Given the description of an element on the screen output the (x, y) to click on. 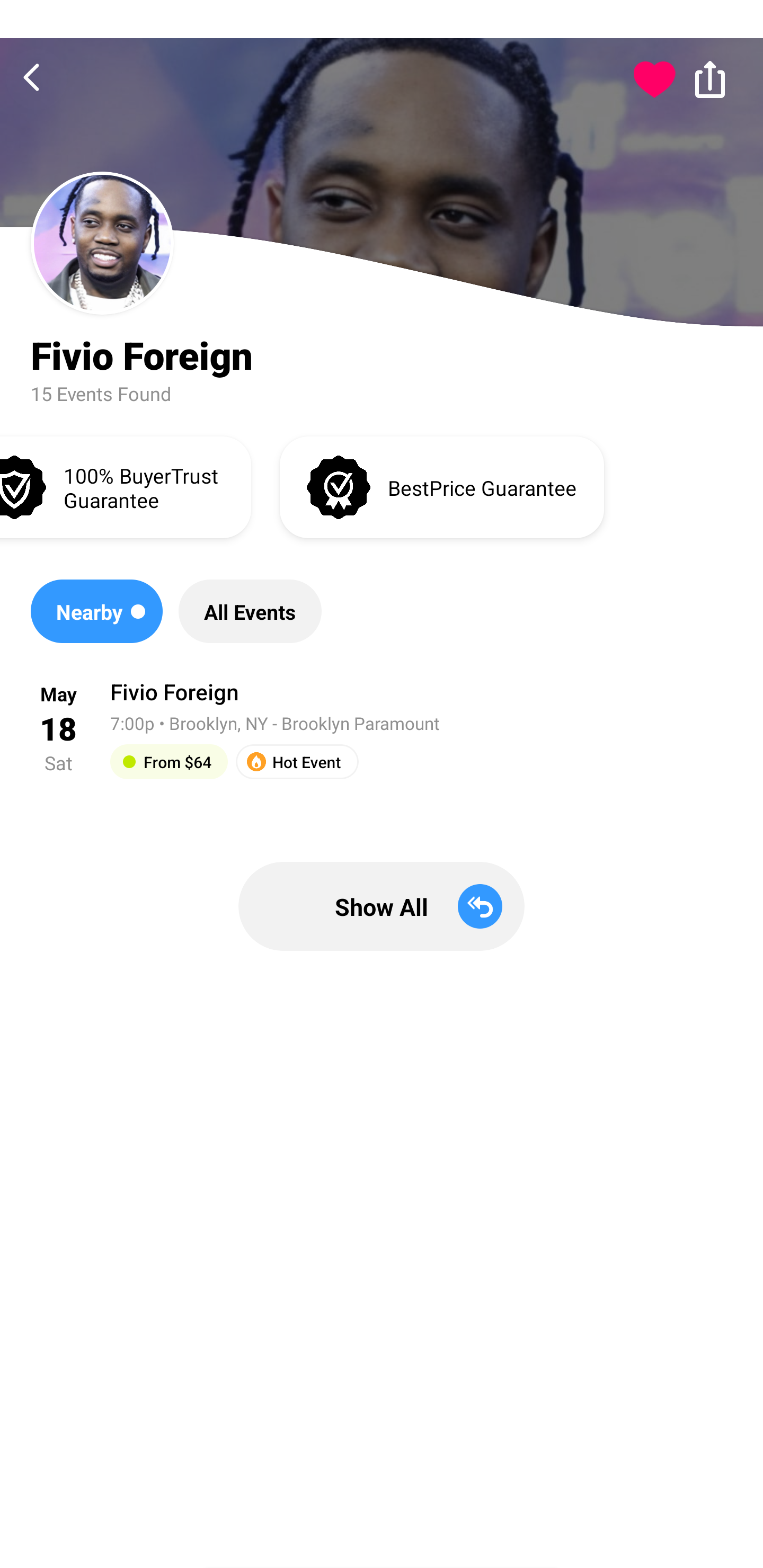
100% BuyerTrust Guarantee (125, 486)
BestPrice Guarantee (442, 486)
Nearby (96, 611)
All Events (249, 611)
Show All (381, 906)
